Given the description of an element on the screen output the (x, y) to click on. 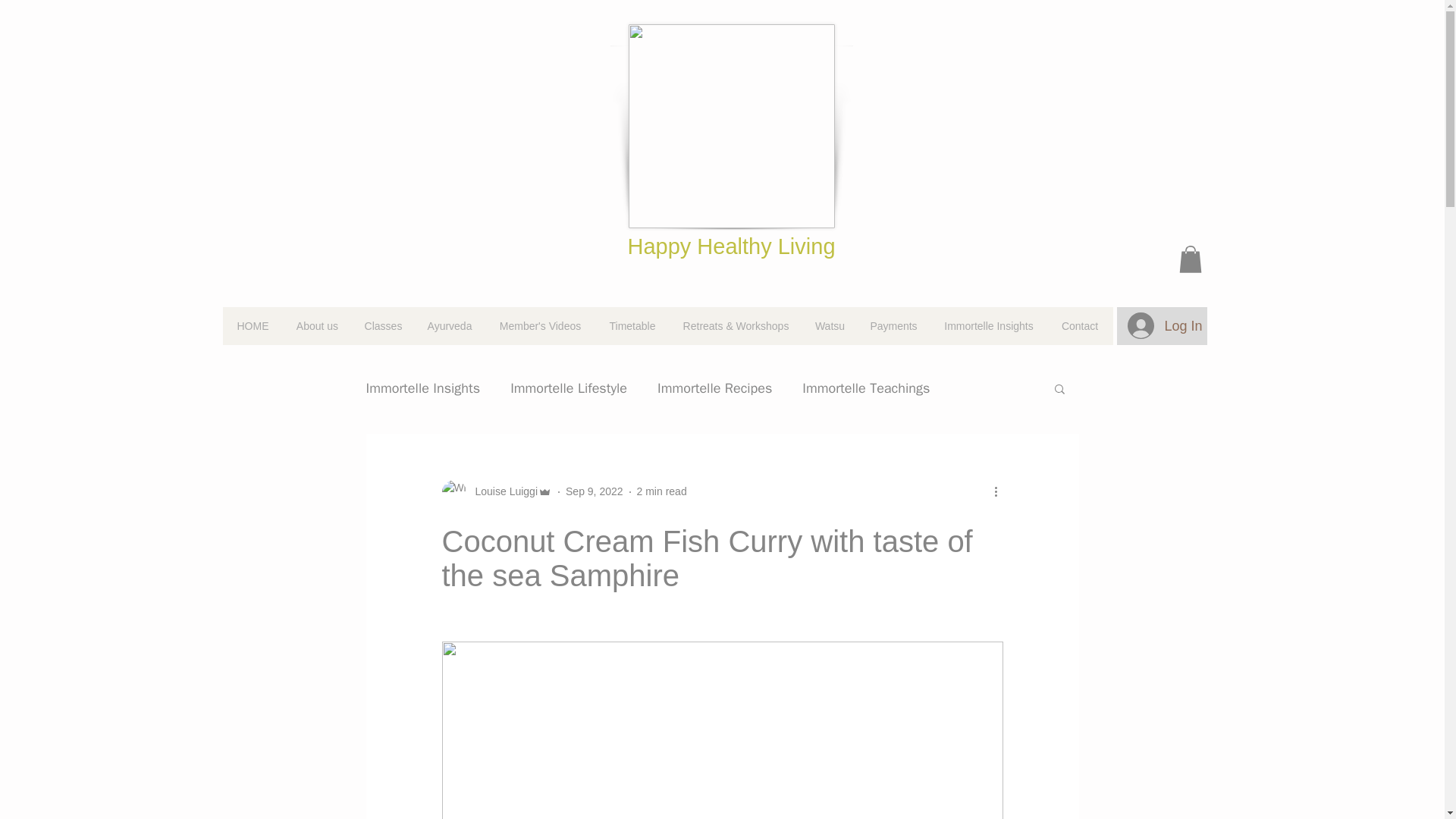
Classes (382, 325)
Ayurveda (448, 325)
Log In (1161, 325)
Sep 9, 2022 (594, 491)
About us (317, 325)
Contact (1080, 325)
Timetable (631, 325)
Immortelle Teachings (866, 388)
Immortelle Recipes (714, 388)
Louise Luiggi (496, 491)
